Given the description of an element on the screen output the (x, y) to click on. 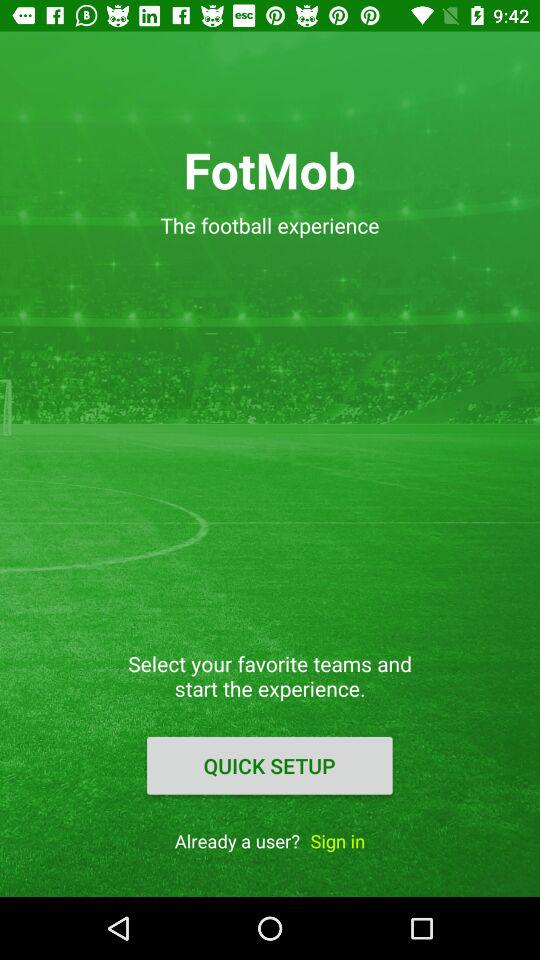
launch the item to the right of the already a user? (337, 840)
